Given the description of an element on the screen output the (x, y) to click on. 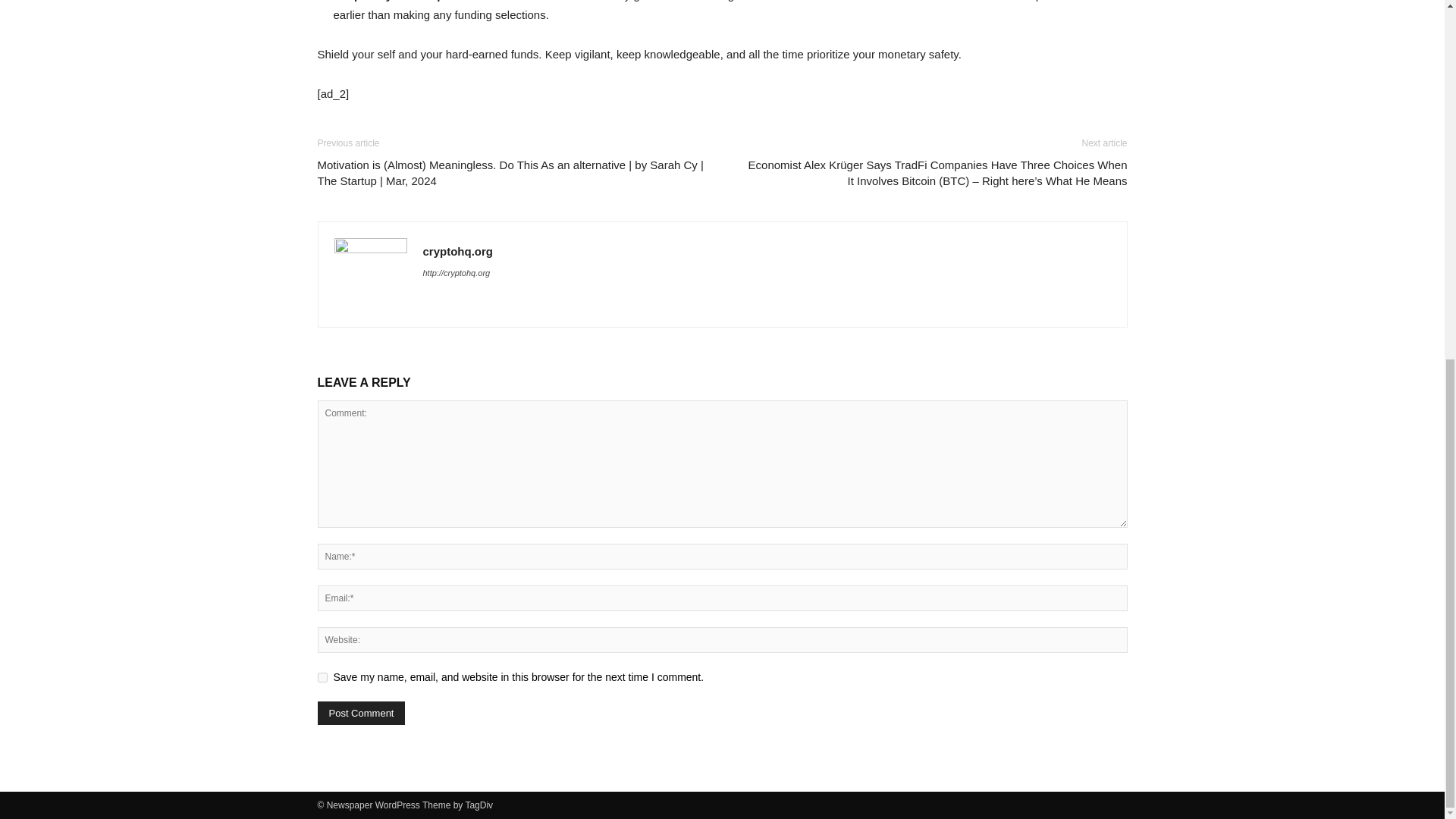
Post Comment (360, 712)
Post Comment (360, 712)
cryptohq.org (458, 250)
yes (321, 677)
